Given the description of an element on the screen output the (x, y) to click on. 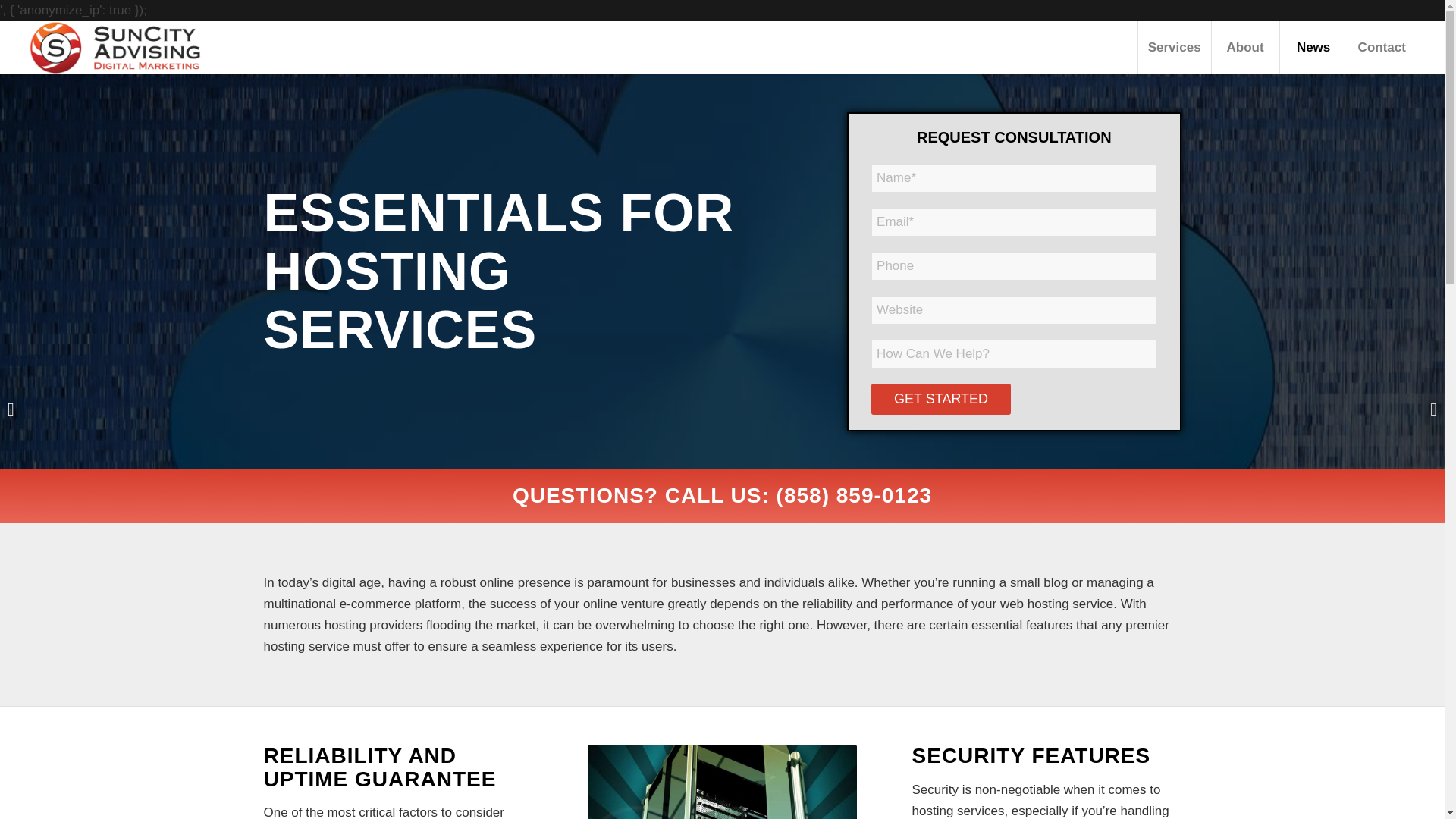
Contact (1381, 47)
News (1313, 47)
Services (1174, 47)
GET STARTED (940, 399)
About (1245, 47)
hosting services (722, 781)
GET STARTED (940, 399)
